Given the description of an element on the screen output the (x, y) to click on. 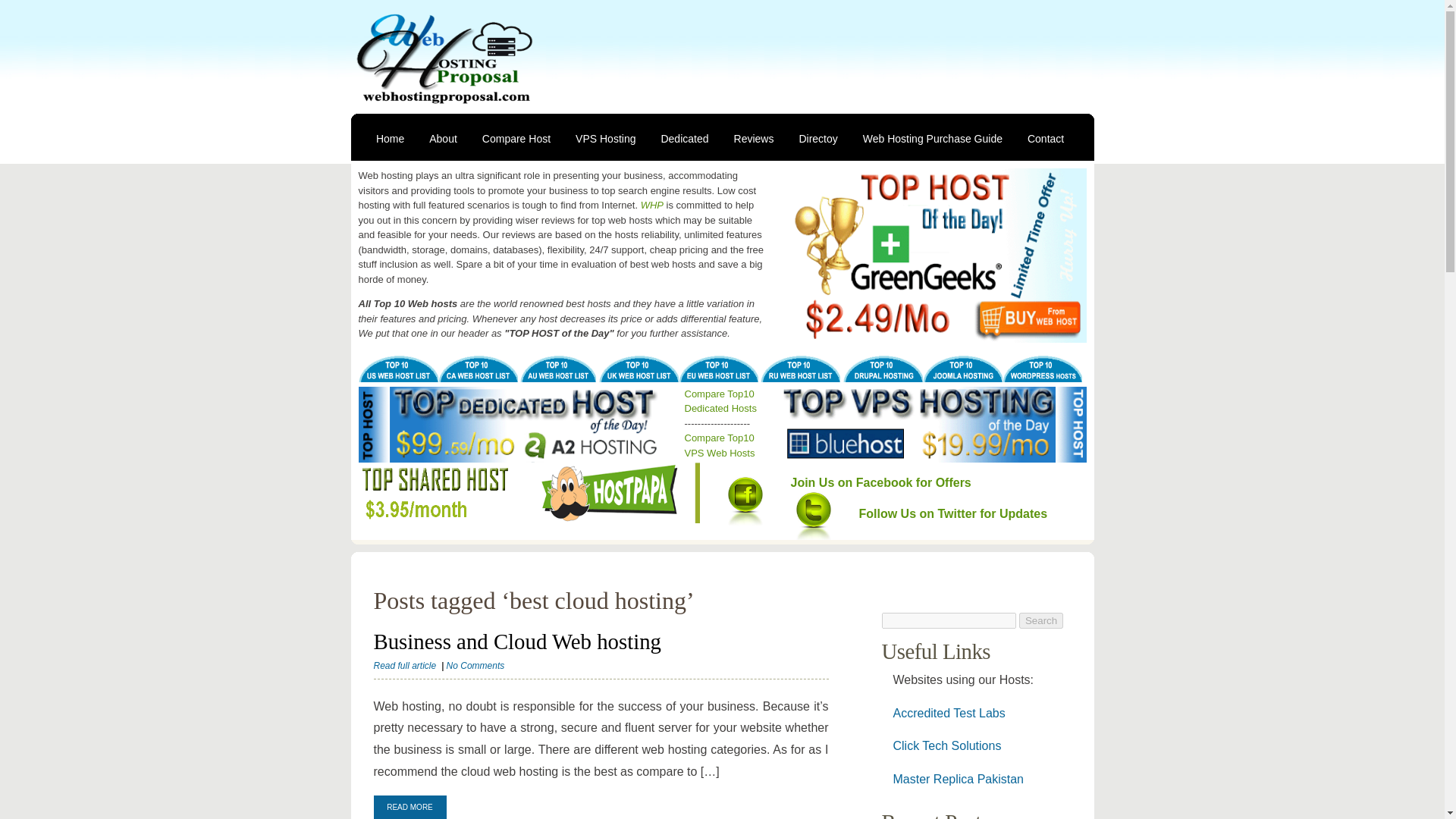
Top 10 Australian Web Hosts (557, 368)
Web Hosting Purchase Guide (927, 136)
Contact (1040, 136)
WHP (651, 204)
Compare Top10 Dedicated Hosts (719, 401)
Follow Twitter (952, 521)
Home (385, 136)
Directoy (812, 136)
Compare Host (510, 136)
Top 10 Drupal Hosting Providers (883, 368)
Compare Top10 VPS Web Hosts (719, 445)
VPS Hosting (600, 136)
Top 10 UK Web Hosts (638, 368)
Top 10 Joomla Hosting Providers (963, 368)
Join Facebook (880, 482)
